Given the description of an element on the screen output the (x, y) to click on. 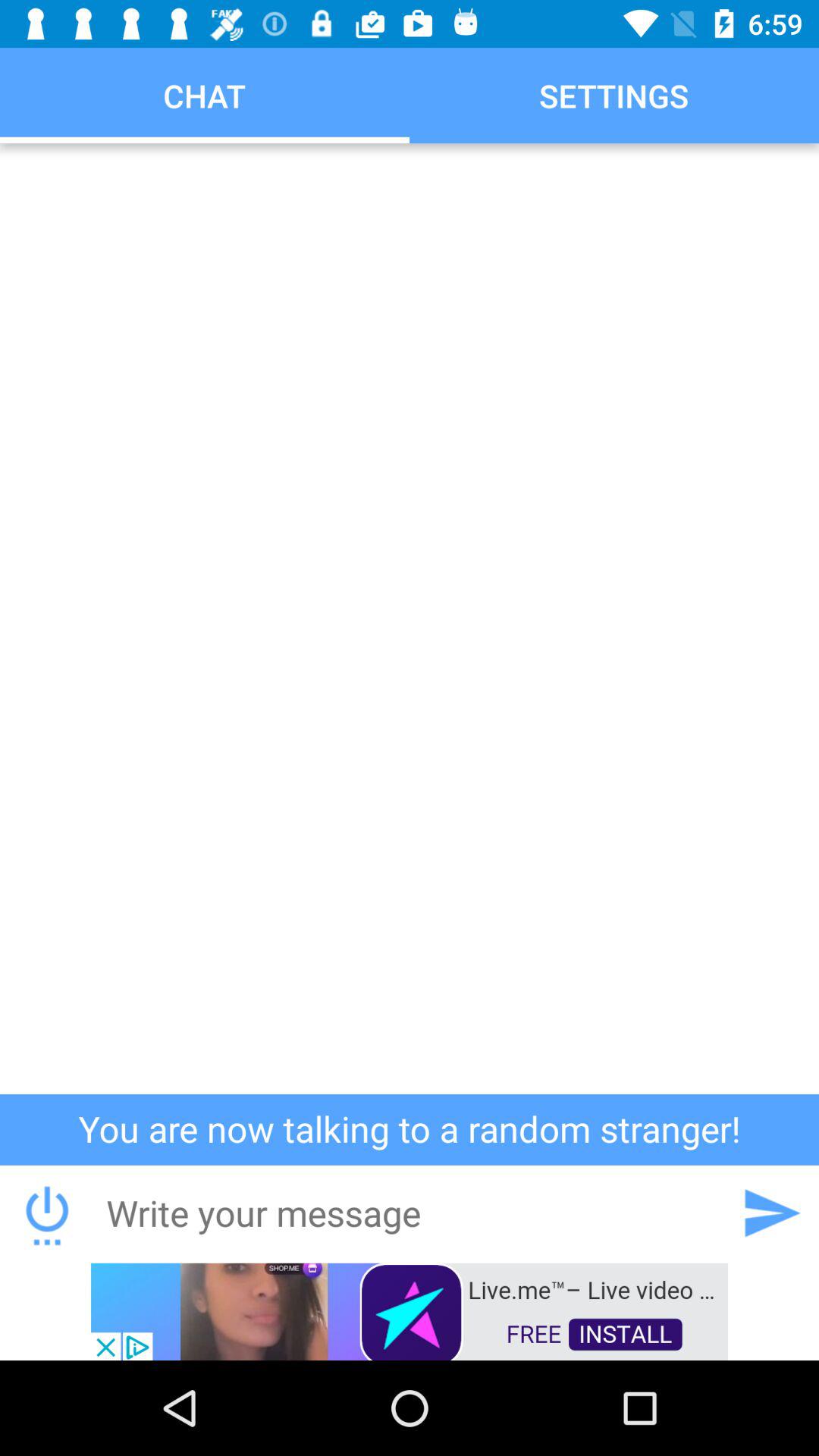
send message icon (771, 1212)
